Given the description of an element on the screen output the (x, y) to click on. 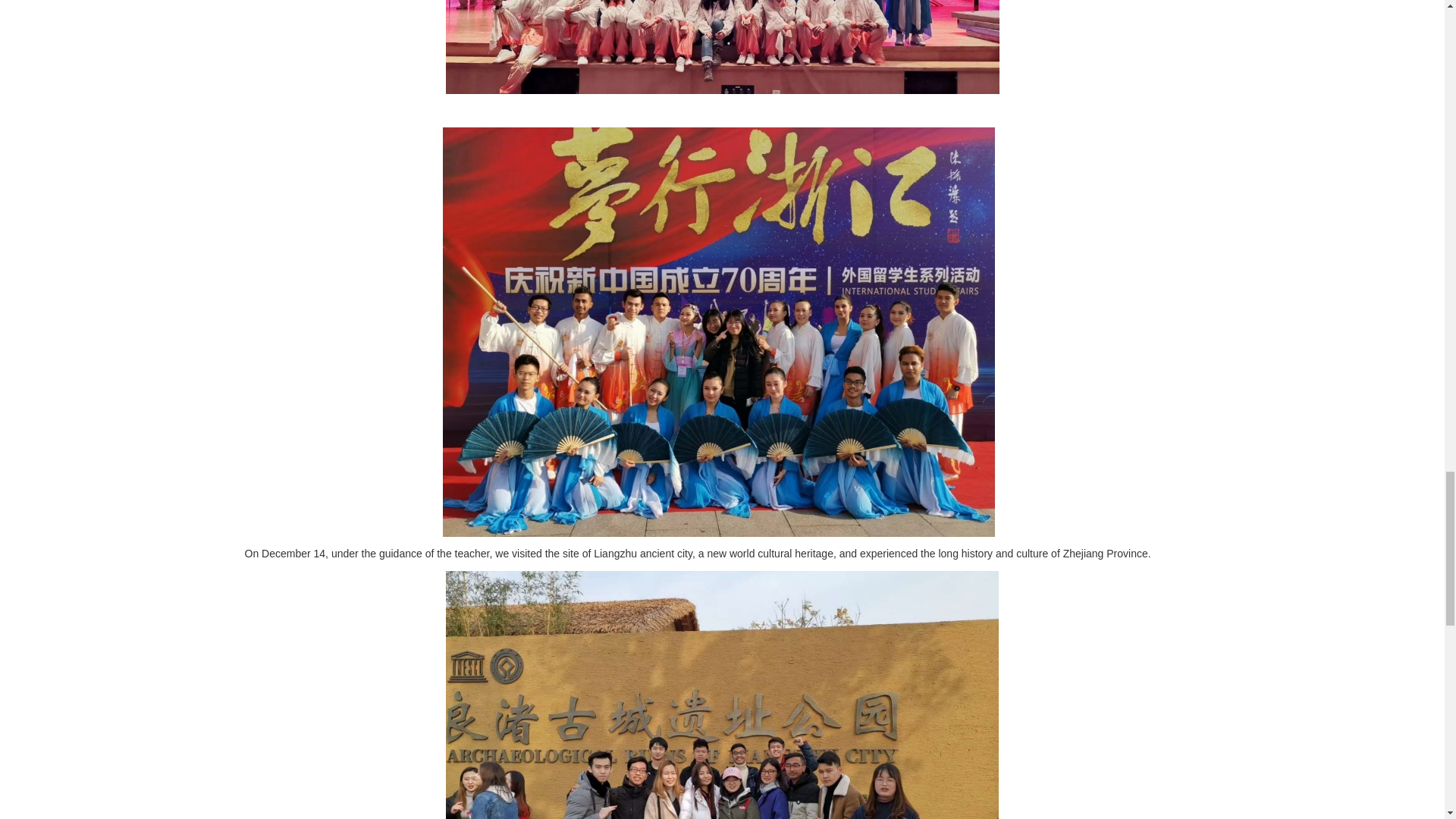
1607399427840410.png (721, 47)
